Given the description of an element on the screen output the (x, y) to click on. 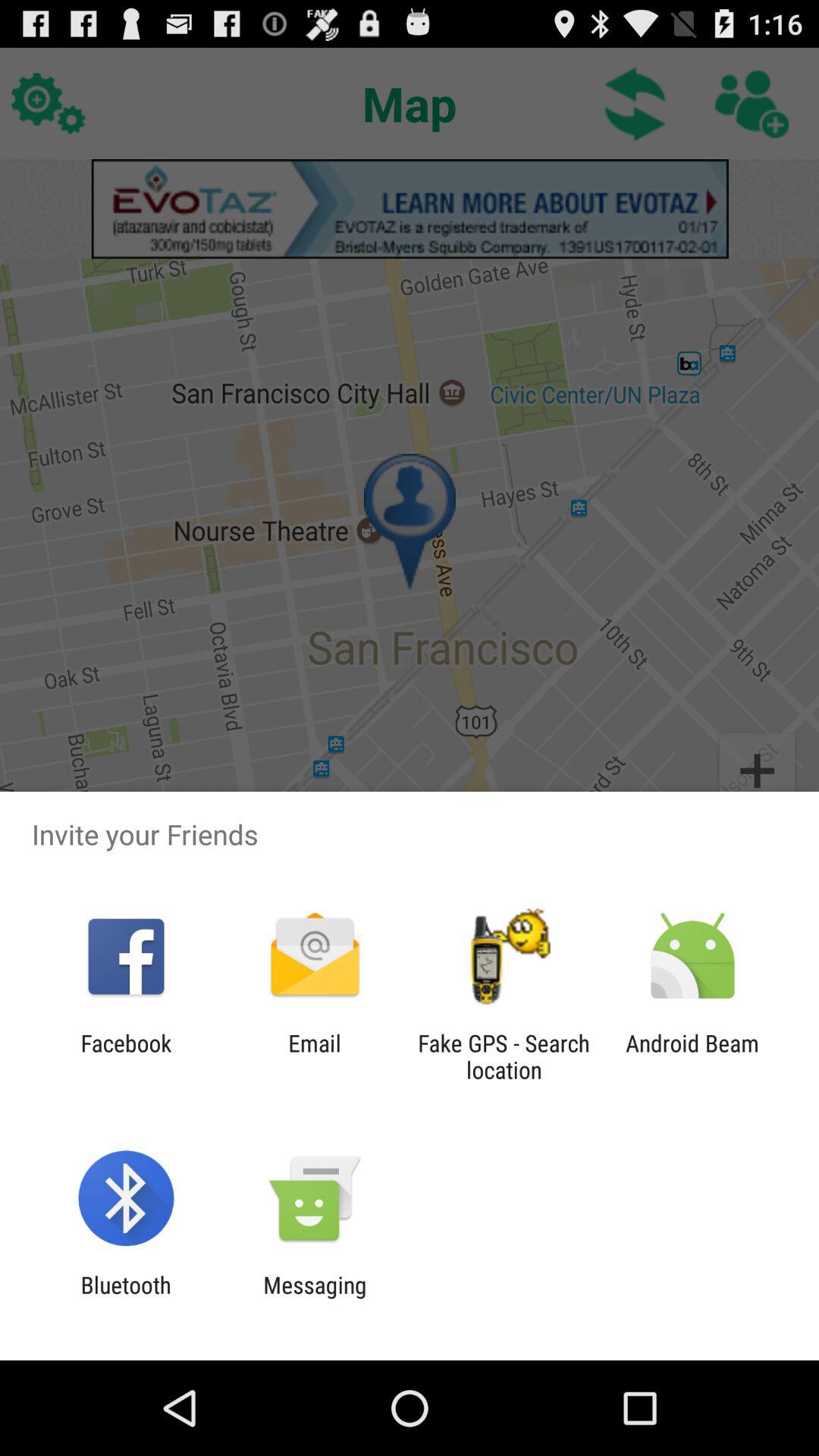
tap the icon next to facebook icon (314, 1056)
